Given the description of an element on the screen output the (x, y) to click on. 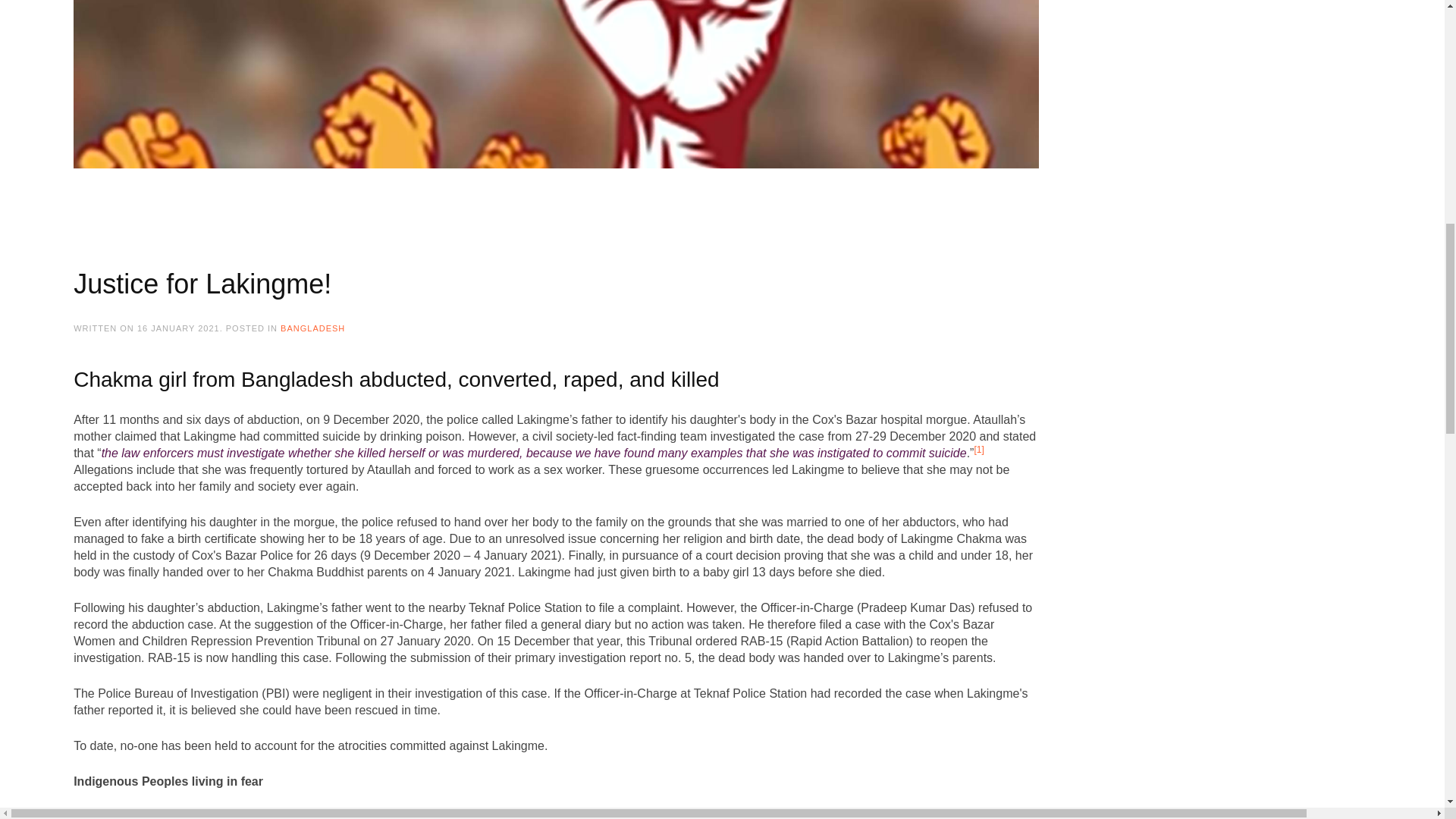
BANGLADESH (313, 327)
